Given the description of an element on the screen output the (x, y) to click on. 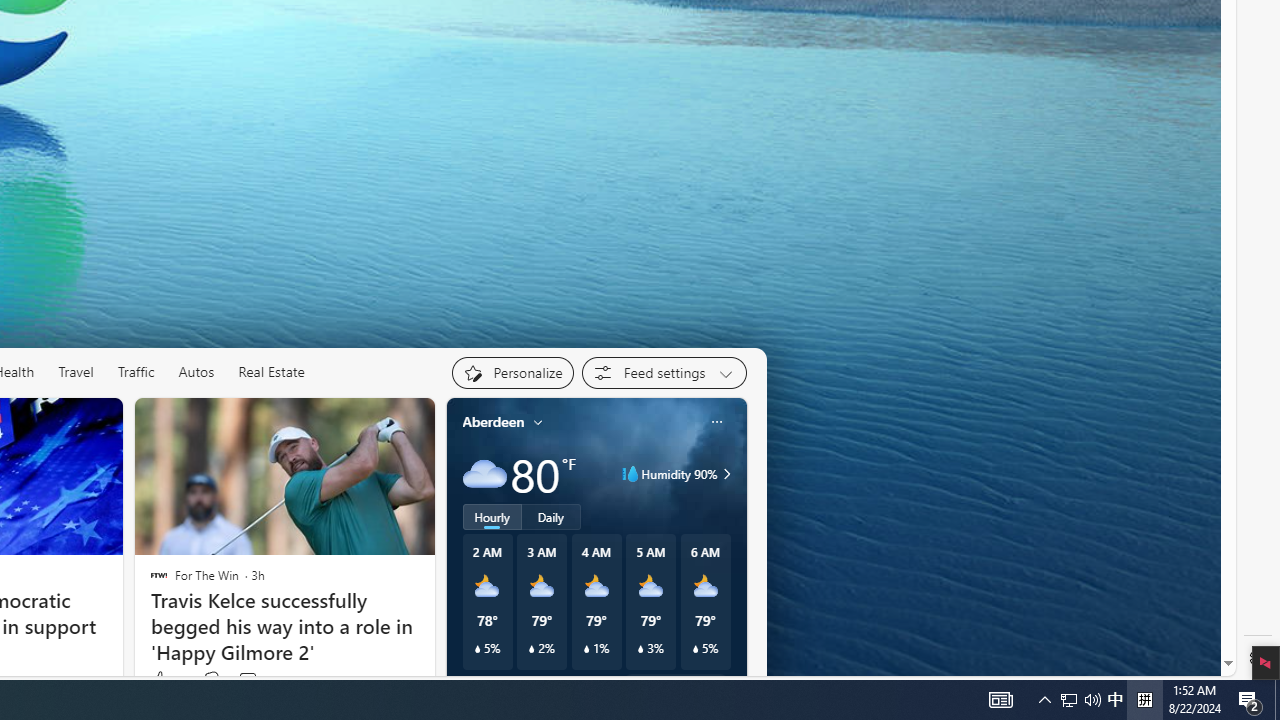
View comments 2 Comment (252, 680)
View comments 2 Comment (247, 679)
Autos (196, 372)
